Given the description of an element on the screen output the (x, y) to click on. 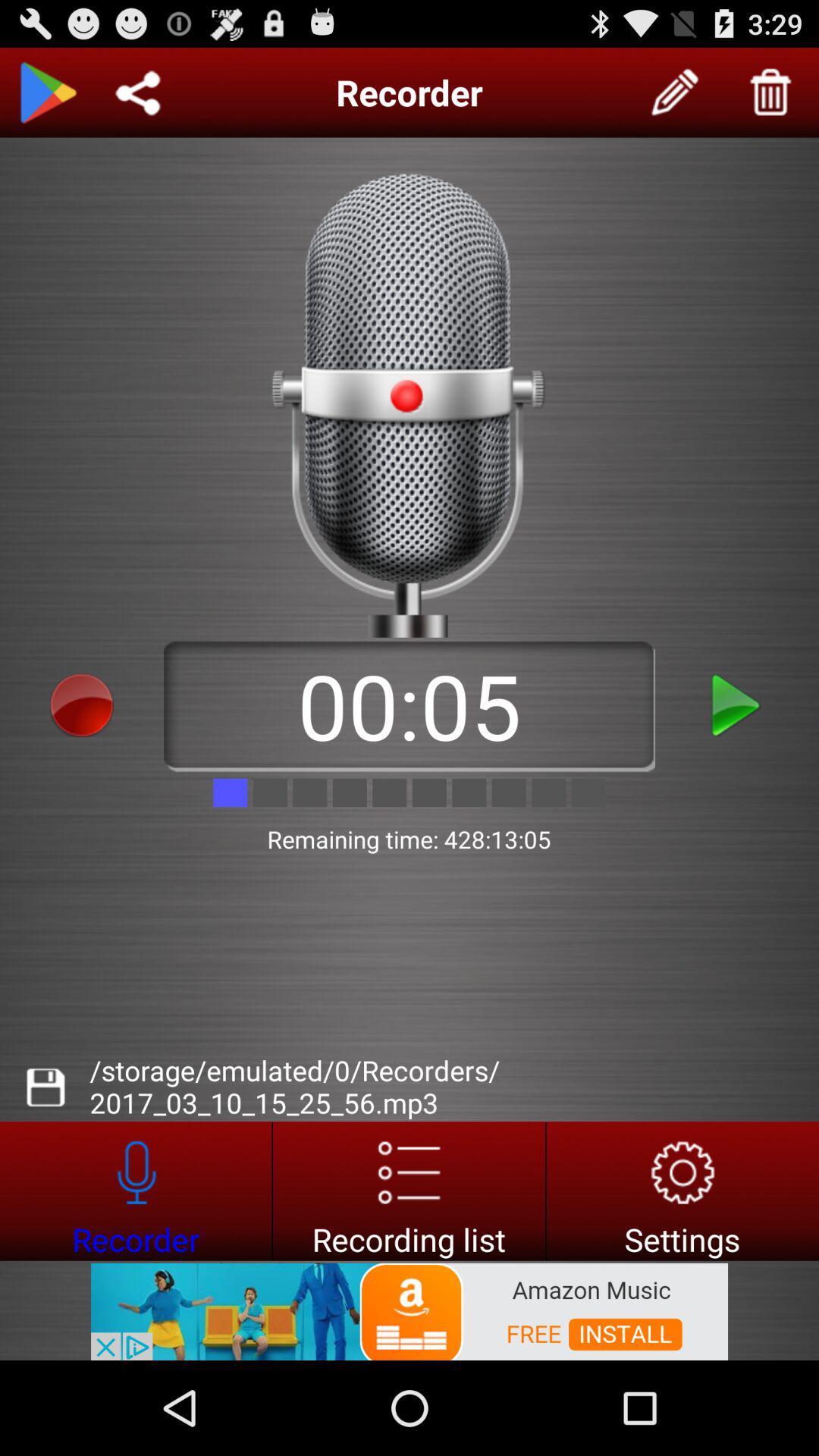
record audio (81, 705)
